Given the description of an element on the screen output the (x, y) to click on. 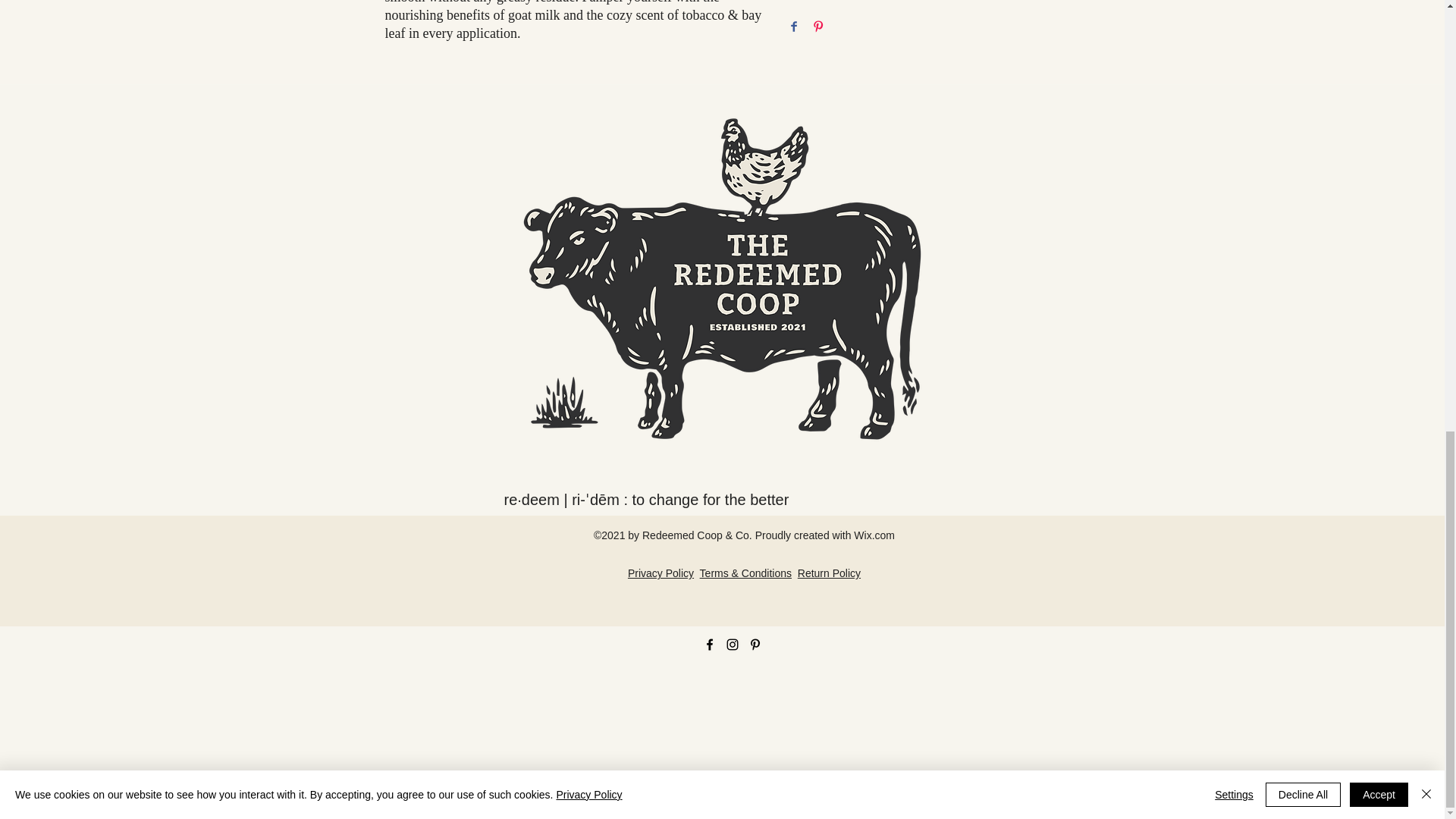
Return Policy (828, 573)
Privacy Policy (660, 573)
